Given the description of an element on the screen output the (x, y) to click on. 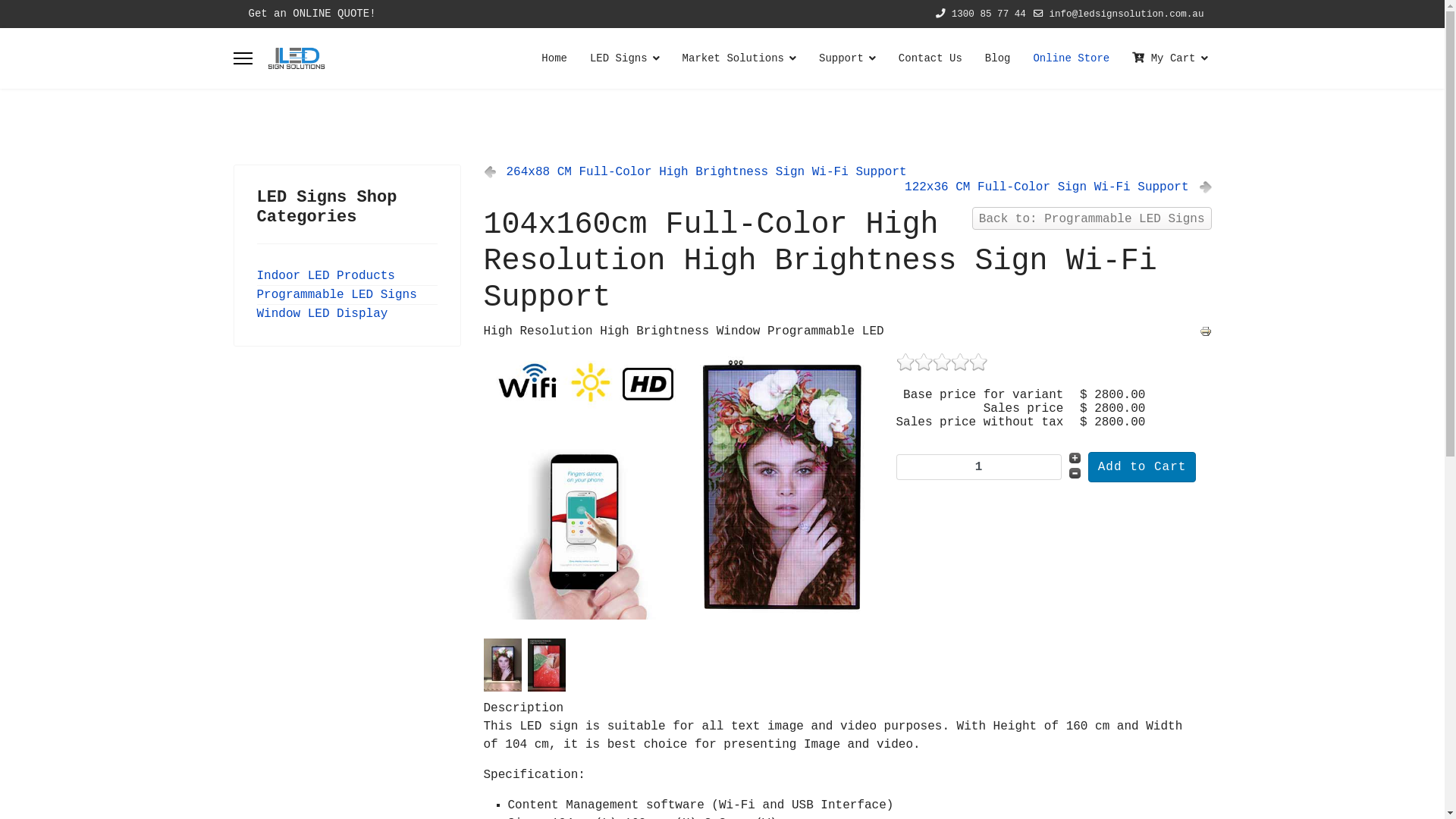
Home Element type: text (554, 58)
Programmable LED Signs Element type: text (336, 294)
Window LED Display Element type: text (321, 313)
Blog Element type: text (997, 58)
Get an ONLINE QUOTE! Element type: text (312, 13)
1300 85 77 44 Element type: text (988, 14)
Menu Element type: hover (242, 58)
info@ledsignsolution.com.au Element type: text (1125, 14)
Add to Cart Element type: text (1142, 466)
LED Signs Element type: text (624, 58)
Back to: Programmable LED Signs Element type: text (1091, 218)
My Cart Element type: text (1163, 58)
122x36 CM Full-Color Sign Wi-Fi Support Element type: text (1057, 186)
Contact Us Element type: text (930, 58)
Online Store Element type: text (1070, 58)
Not Rated Yet Element type: hover (941, 361)
264x88 CM Full-Color High Brightness Sign Wi-Fi Support Element type: text (694, 171)
Print Element type: hover (1205, 331)
Indoor LED Products Element type: text (325, 275)
Add to Cart Element type: hover (1142, 466)
